Given the description of an element on the screen output the (x, y) to click on. 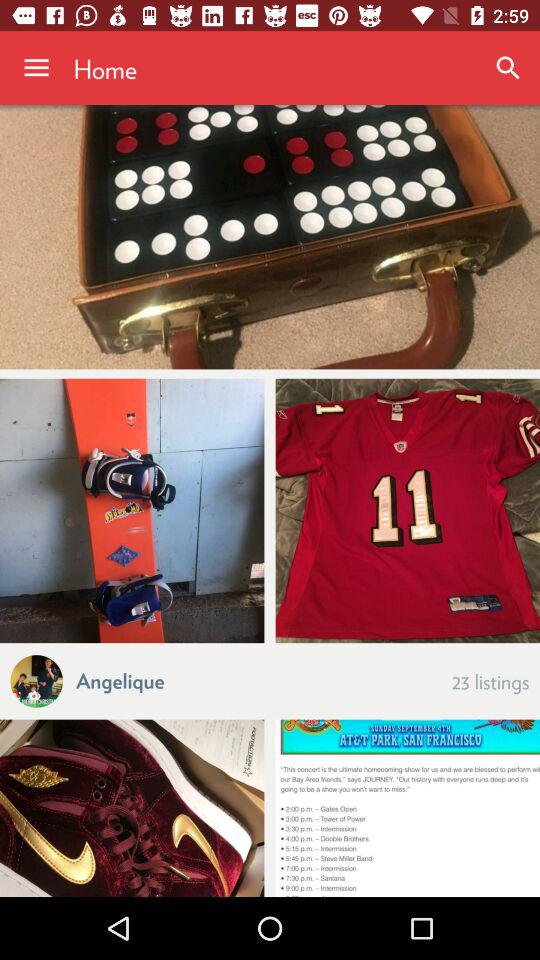
choose the icon to the right of the a (120, 679)
